Given the description of an element on the screen output the (x, y) to click on. 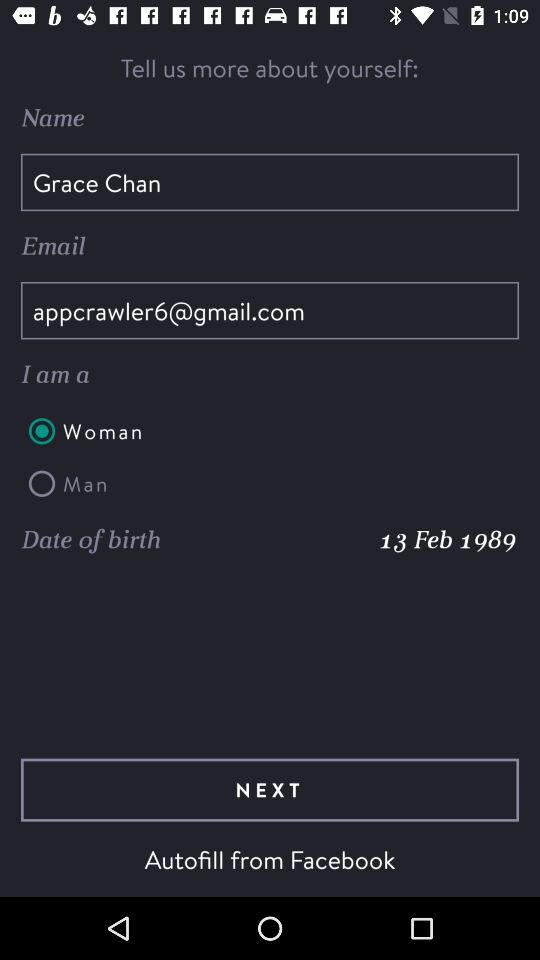
select autofill from facebook item (270, 859)
